Given the description of an element on the screen output the (x, y) to click on. 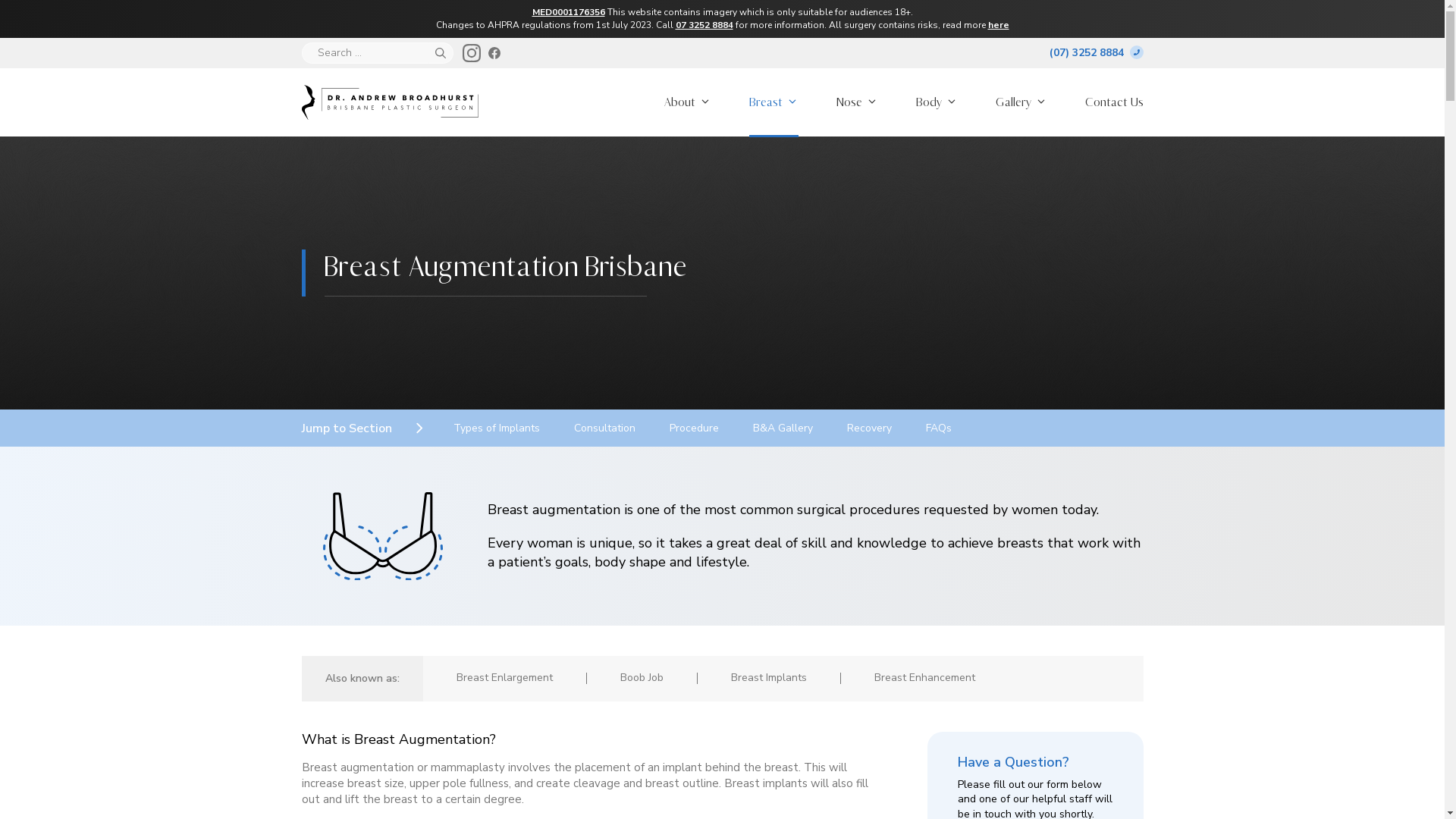
Gallery Element type: text (1021, 102)
Contact Us Element type: text (1114, 102)
(07) 3252 8884 Element type: text (1096, 52)
Nose Element type: text (857, 102)
Breast Enlargement Element type: text (504, 677)
Breast Enhancement Element type: text (923, 677)
07 3252 8884 Element type: text (703, 24)
Consultation Element type: text (603, 427)
FAQs Element type: text (937, 427)
here Element type: text (997, 24)
Procedure Element type: text (693, 427)
Body Element type: text (935, 102)
Boob Job Element type: text (641, 677)
Types of Implants Element type: text (496, 427)
Breast Implants Element type: text (768, 677)
Search for: Element type: hover (365, 52)
MED0001176356 Element type: text (568, 12)
Breast Element type: text (772, 102)
Recovery Element type: text (868, 427)
About Element type: text (686, 102)
B&A Gallery Element type: text (782, 427)
